Given the description of an element on the screen output the (x, y) to click on. 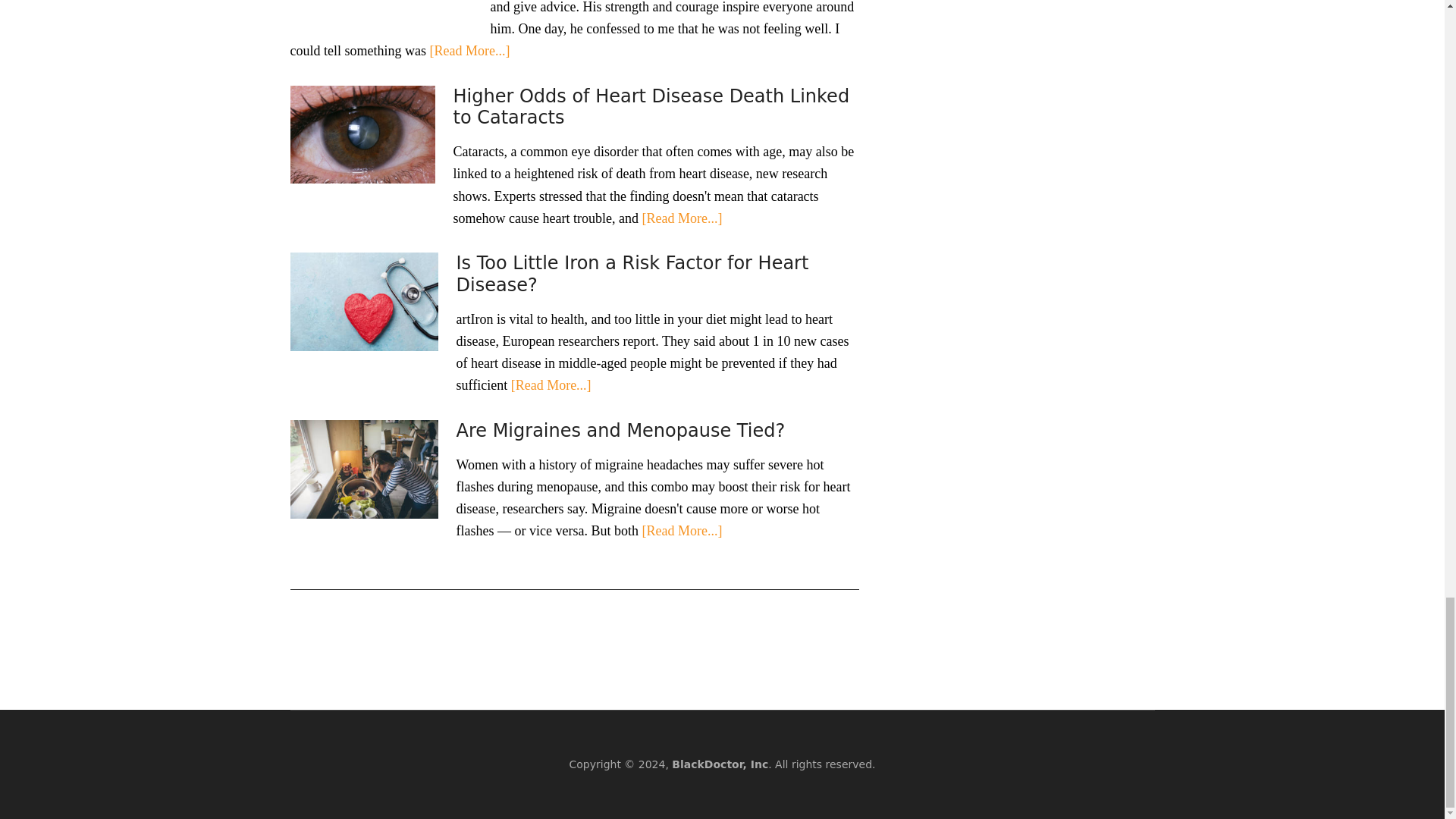
Is Too Little Iron a Risk Factor for Heart Disease? (633, 273)
Are Migraines and Menopause Tied? (621, 430)
Higher Odds of Heart Disease Death Linked to Cataracts (651, 106)
